Given the description of an element on the screen output the (x, y) to click on. 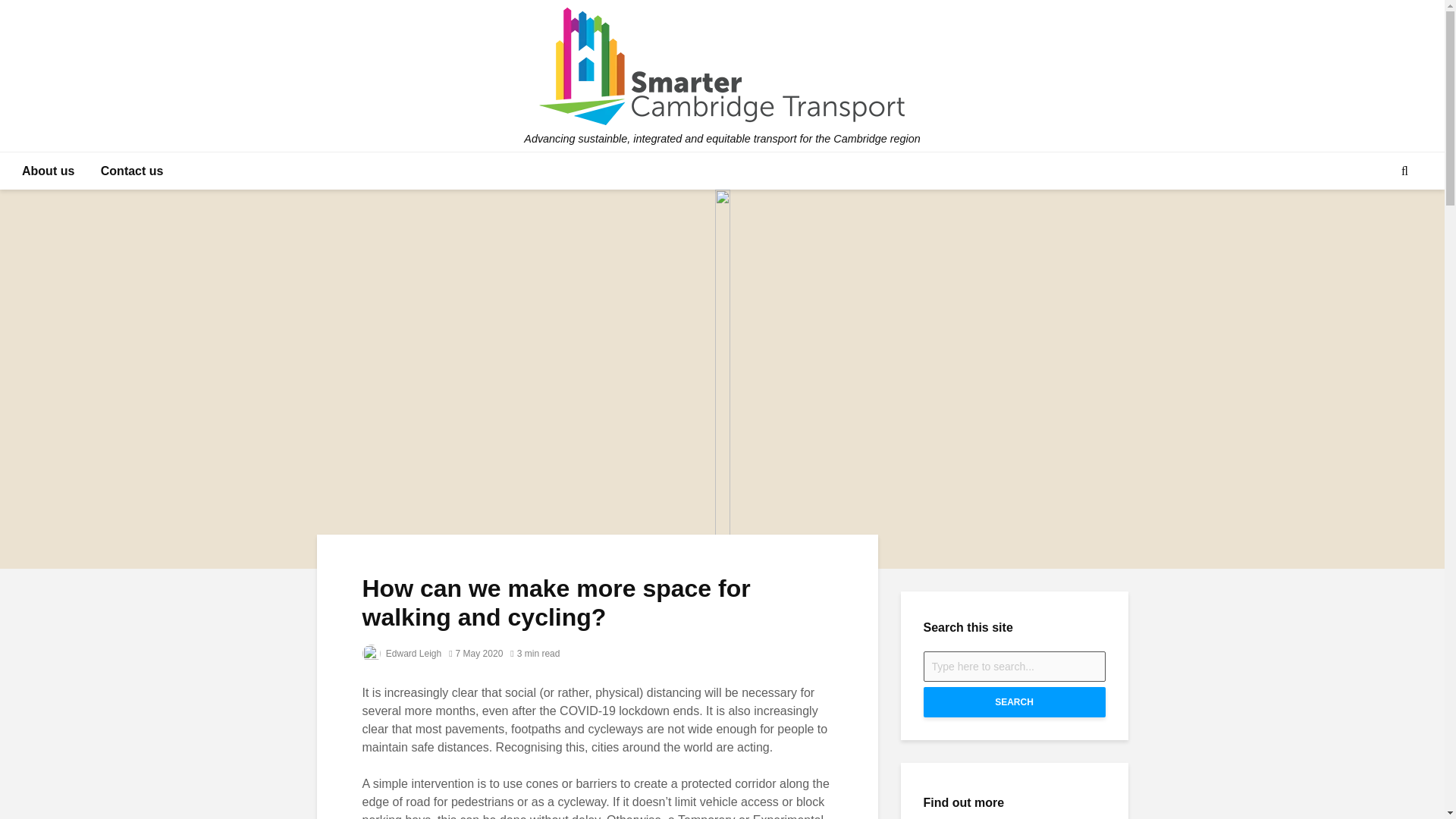
Edward Leigh (402, 653)
About us (47, 171)
SEARCH (1014, 702)
Contact us (131, 171)
